Given the description of an element on the screen output the (x, y) to click on. 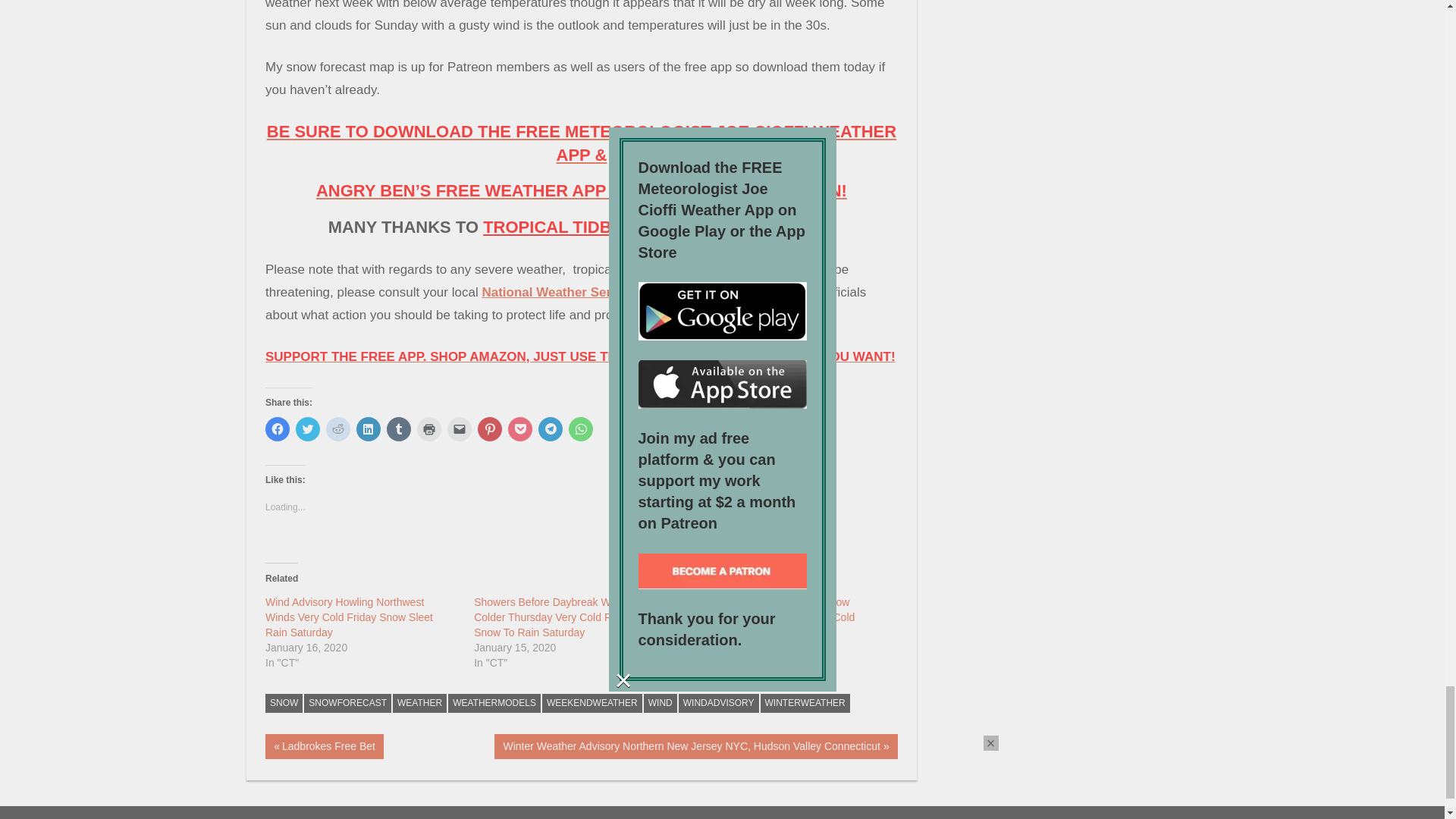
Click to email a link to a friend (458, 428)
Click to share on Tumblr (398, 428)
Click to share on Twitter (307, 428)
Click to print (428, 428)
Click to share on Facebook (276, 428)
Click to share on Reddit (338, 428)
Click to share on LinkedIn (368, 428)
Click to share on Pinterest (489, 428)
